Given the description of an element on the screen output the (x, y) to click on. 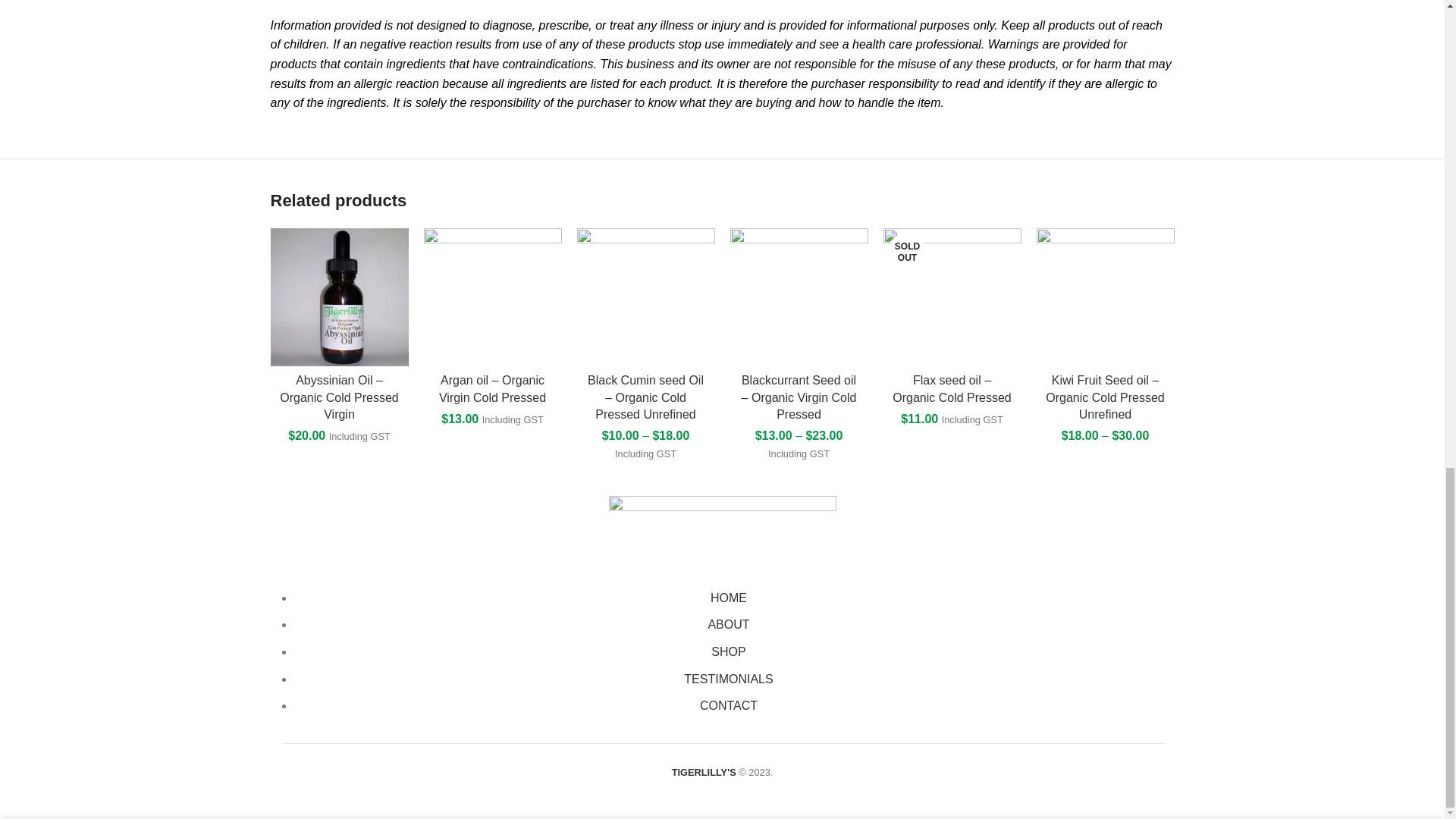
Asset 9 (721, 528)
